Given the description of an element on the screen output the (x, y) to click on. 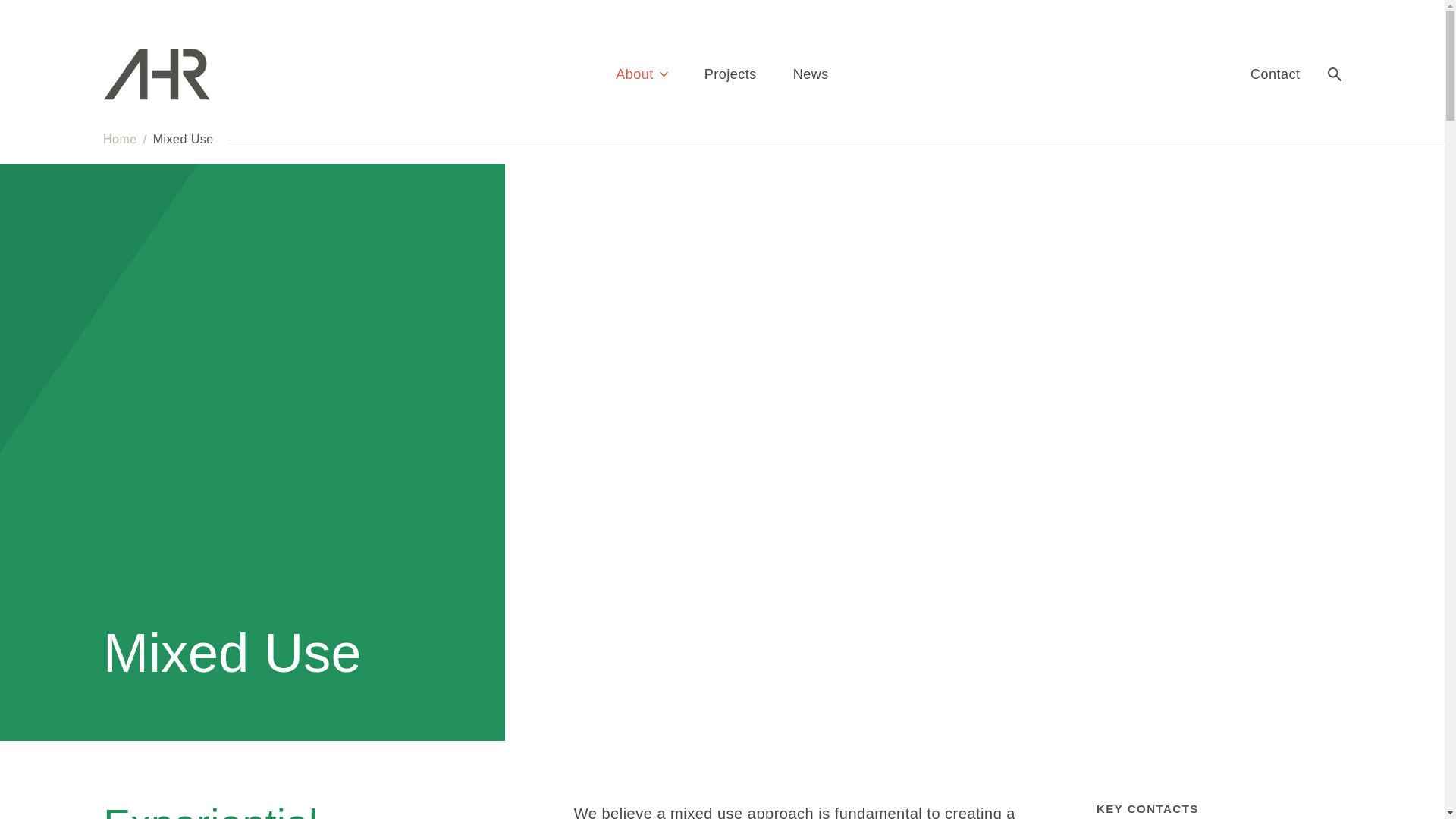
About (640, 74)
Projects (730, 73)
Search (1333, 74)
Homepage (173, 73)
News (810, 73)
Contact (1275, 74)
